Given the description of an element on the screen output the (x, y) to click on. 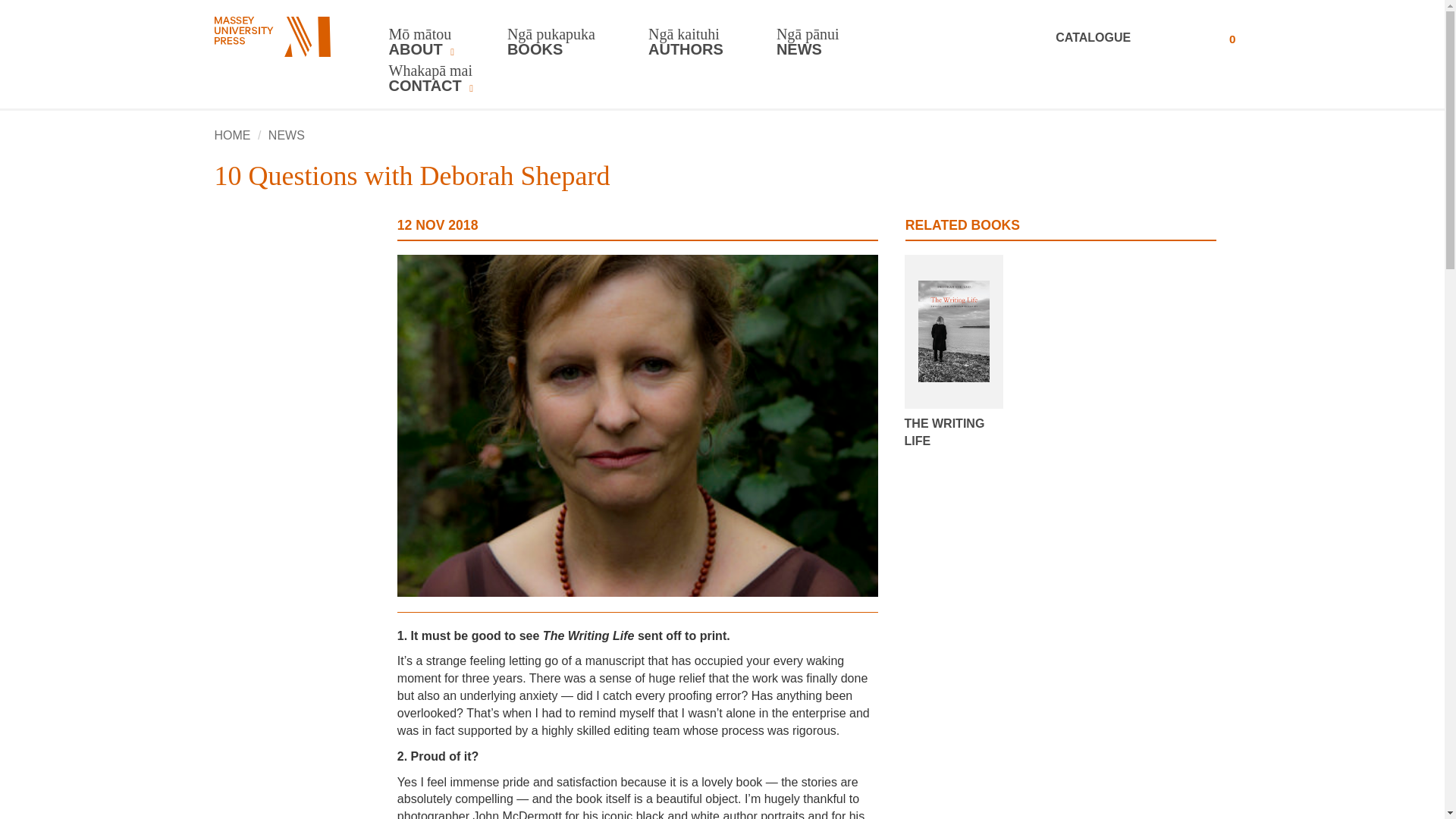
0 (1215, 38)
CATALOGUE   (1113, 37)
HOME (232, 134)
NEWS (285, 134)
